Given the description of an element on the screen output the (x, y) to click on. 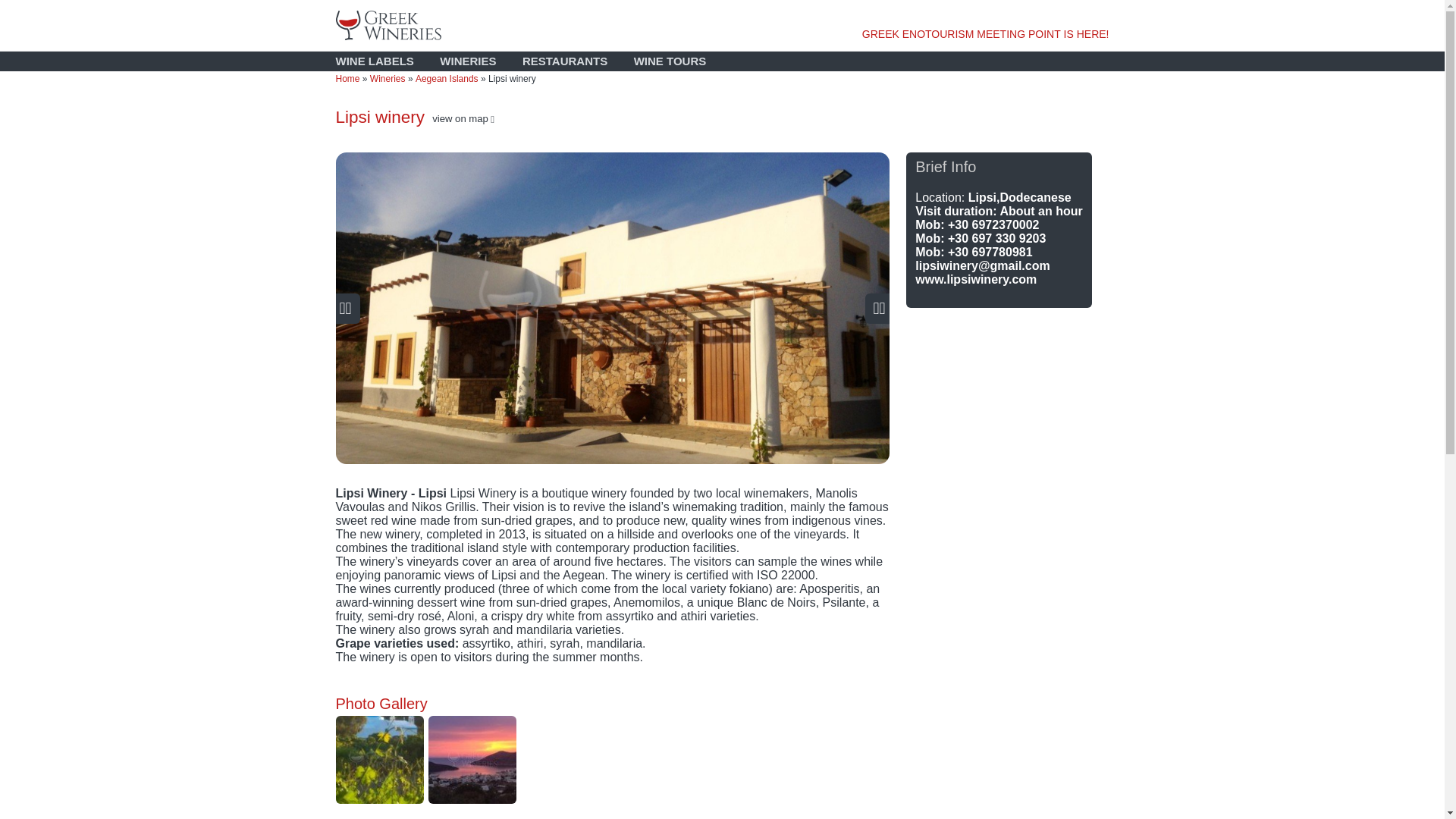
WINE TOURS (669, 60)
RESTAURANTS (564, 60)
view on map (463, 118)
view-from-winery-lipsi (472, 759)
view on map (463, 118)
WINE LABELS (373, 60)
WINERIES (467, 60)
Wineries (387, 78)
Aegean Islands (446, 78)
Home (346, 78)
chapel and vines lipsi (378, 759)
